Given the description of an element on the screen output the (x, y) to click on. 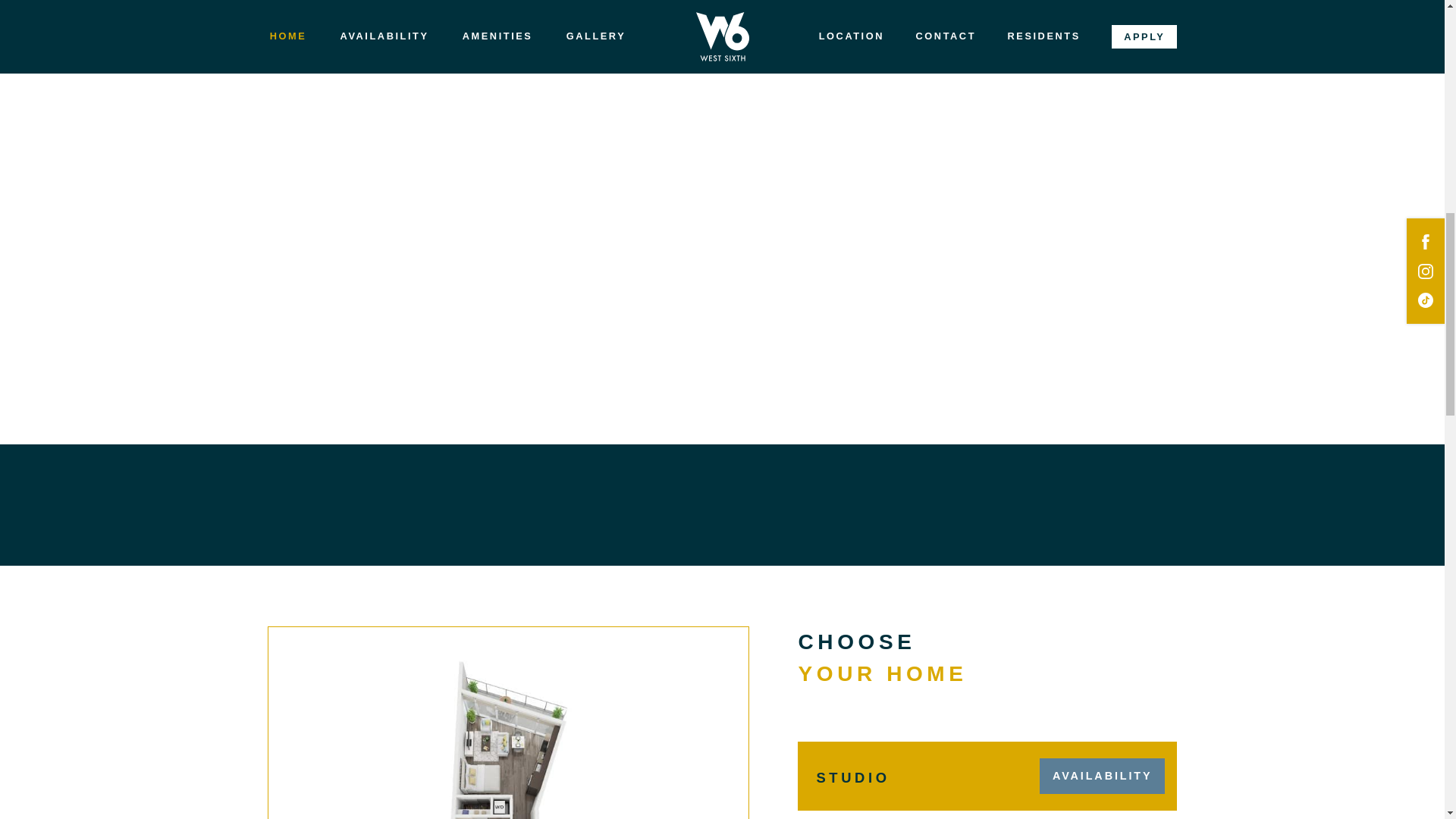
AVAILABILITY (1102, 775)
